Given the description of an element on the screen output the (x, y) to click on. 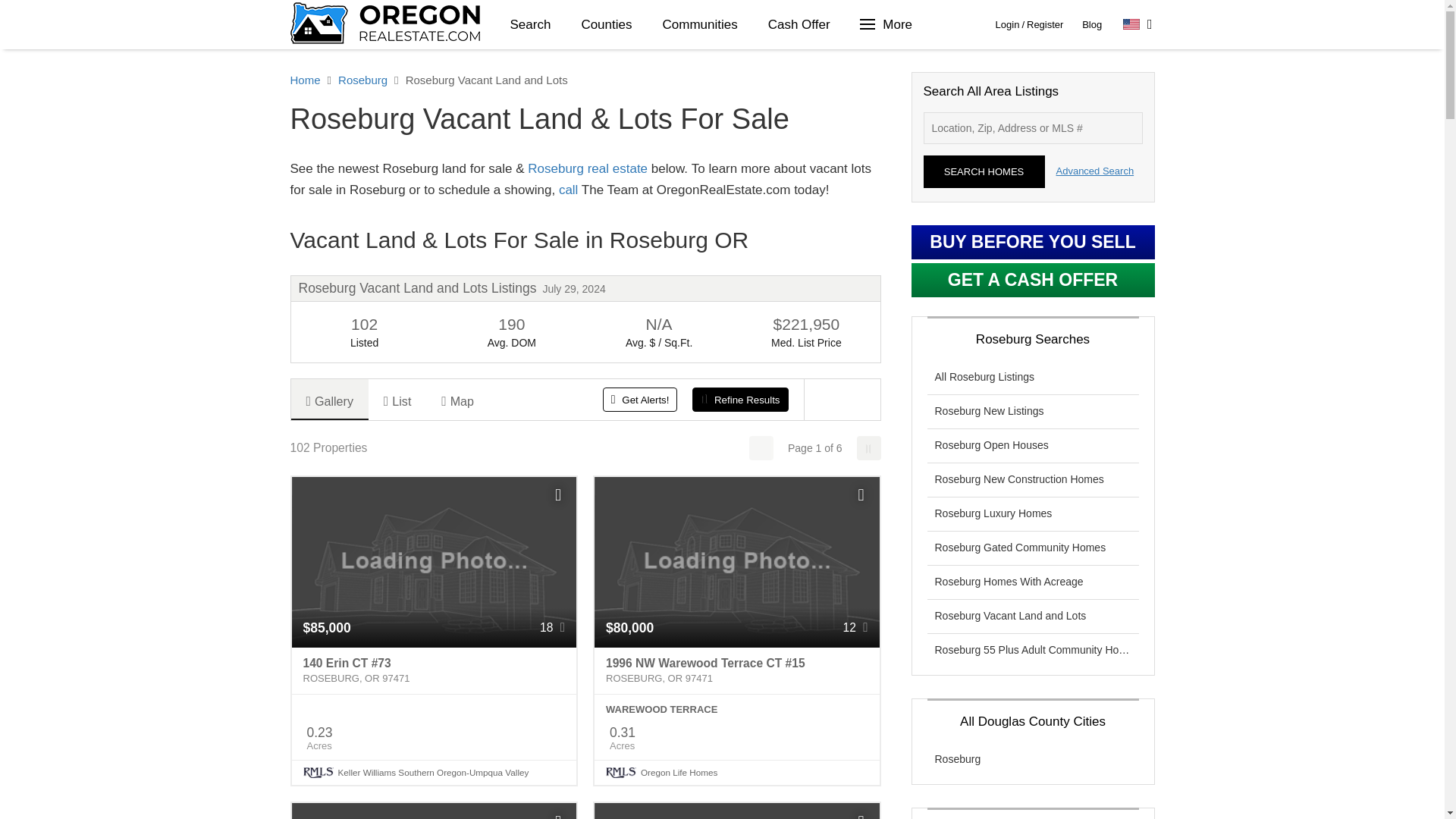
Search (530, 24)
Communities (699, 24)
Select Language (1137, 24)
Counties (606, 24)
